Given the description of an element on the screen output the (x, y) to click on. 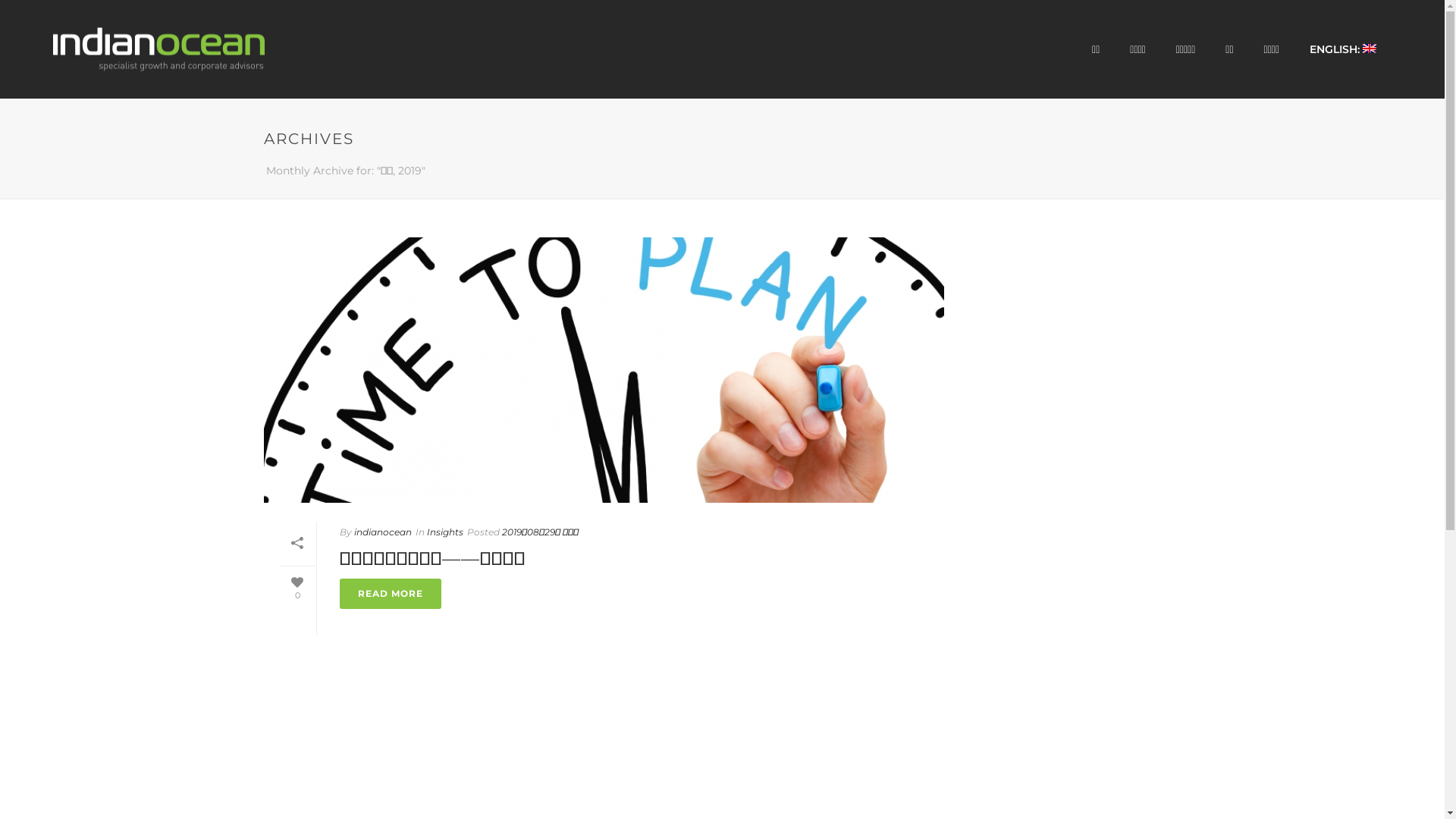
indianocean Element type: text (382, 531)
  Element type: text (603, 369)
0 Element type: text (297, 587)
ENGLISH:  Element type: text (1342, 49)
Insights Element type: text (444, 531)
READ MORE Element type: text (390, 593)
